Given the description of an element on the screen output the (x, y) to click on. 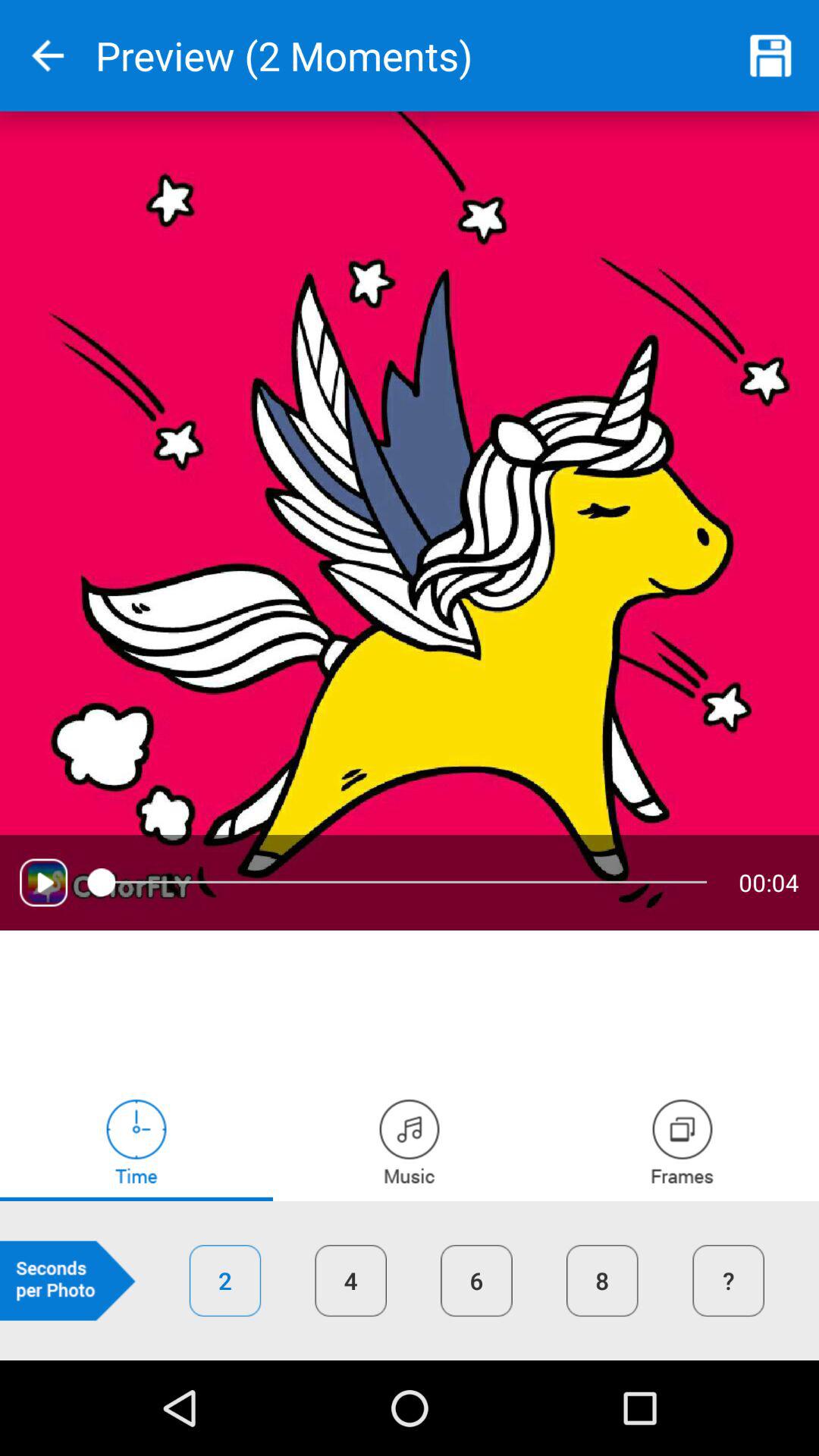
frames (682, 1141)
